Given the description of an element on the screen output the (x, y) to click on. 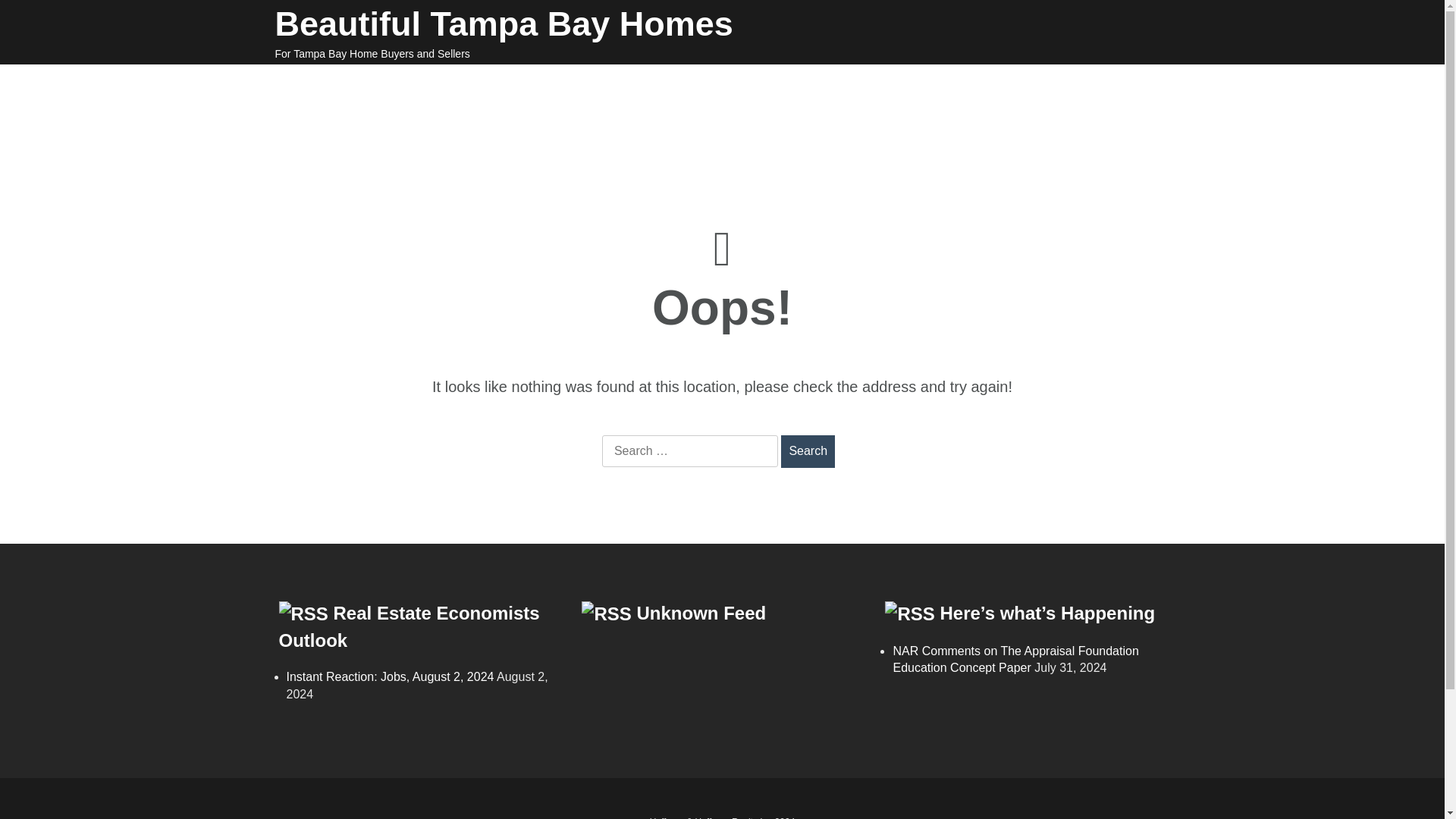
Beautiful Tampa Bay Homes (503, 23)
Contact Us (837, 105)
Real Estate Economists Outlook (409, 626)
Unknown Feed (702, 612)
Welcome to Tampa Bay (349, 84)
Instant Reaction: Jobs, August 2, 2024 (390, 676)
Staging Your Home (601, 84)
Inspections (720, 84)
Testimonials (483, 105)
Meet the Hoffman Team (1012, 84)
Passion for Animals (349, 105)
Search (807, 450)
Search (807, 450)
Mortgage Calculator (842, 84)
